Given the description of an element on the screen output the (x, y) to click on. 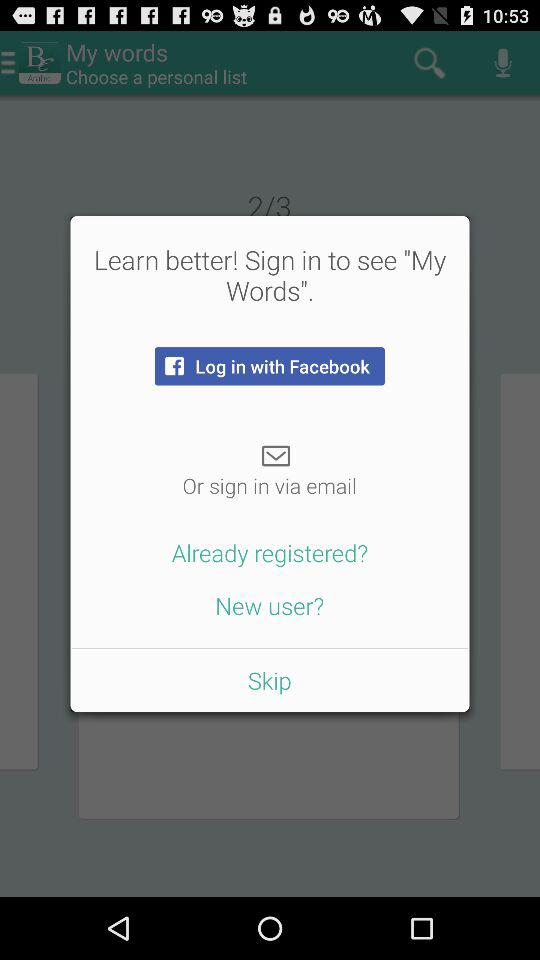
select the item below the learn better sign item (269, 366)
